Given the description of an element on the screen output the (x, y) to click on. 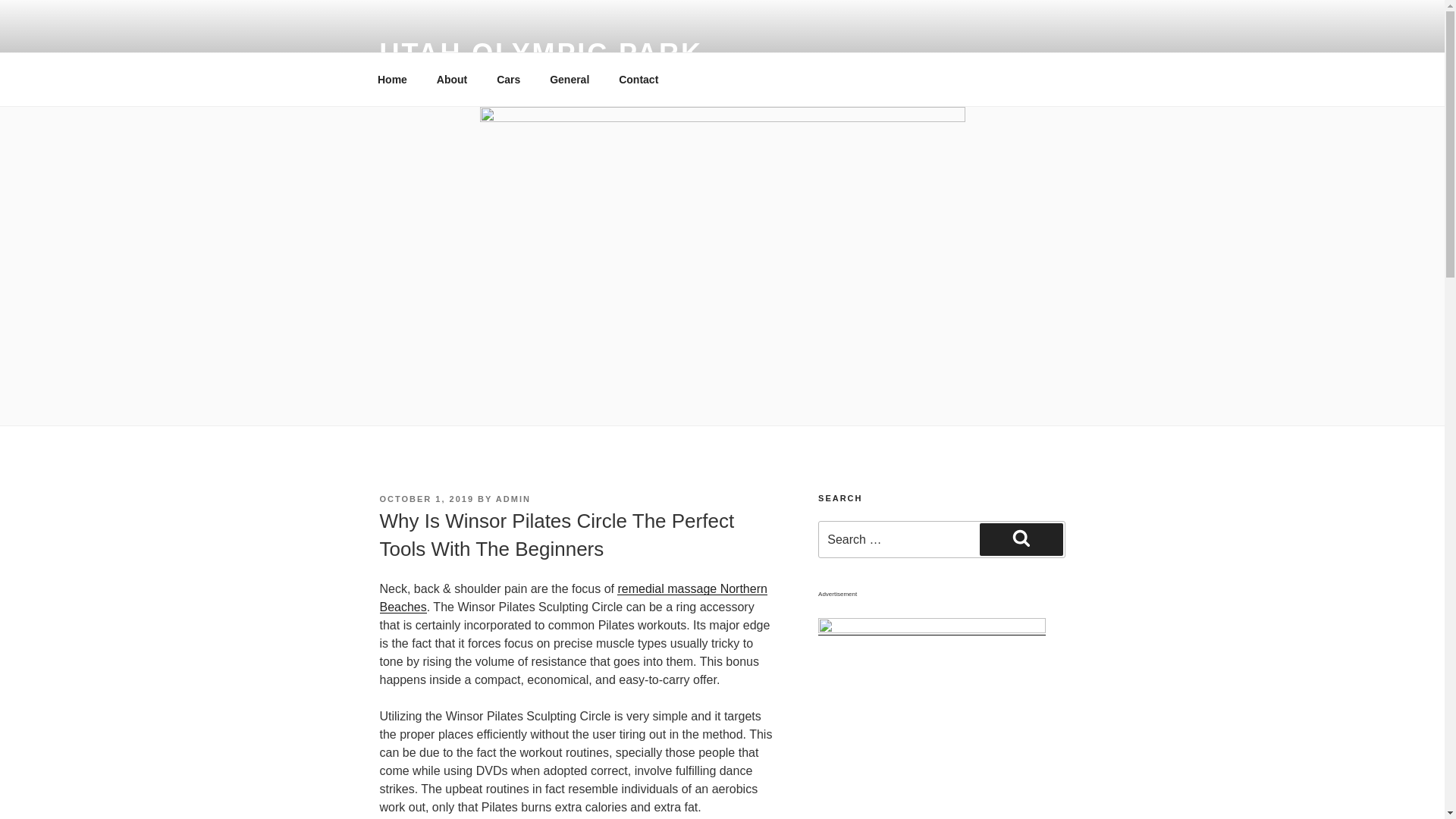
General (569, 78)
UTAH OLYMPIC PARK (539, 52)
ADMIN (513, 498)
Cars (508, 78)
Search (1020, 539)
Contact (638, 78)
OCTOBER 1, 2019 (426, 498)
remedial massage Northern Beaches (572, 597)
About (451, 78)
Home (392, 78)
